Given the description of an element on the screen output the (x, y) to click on. 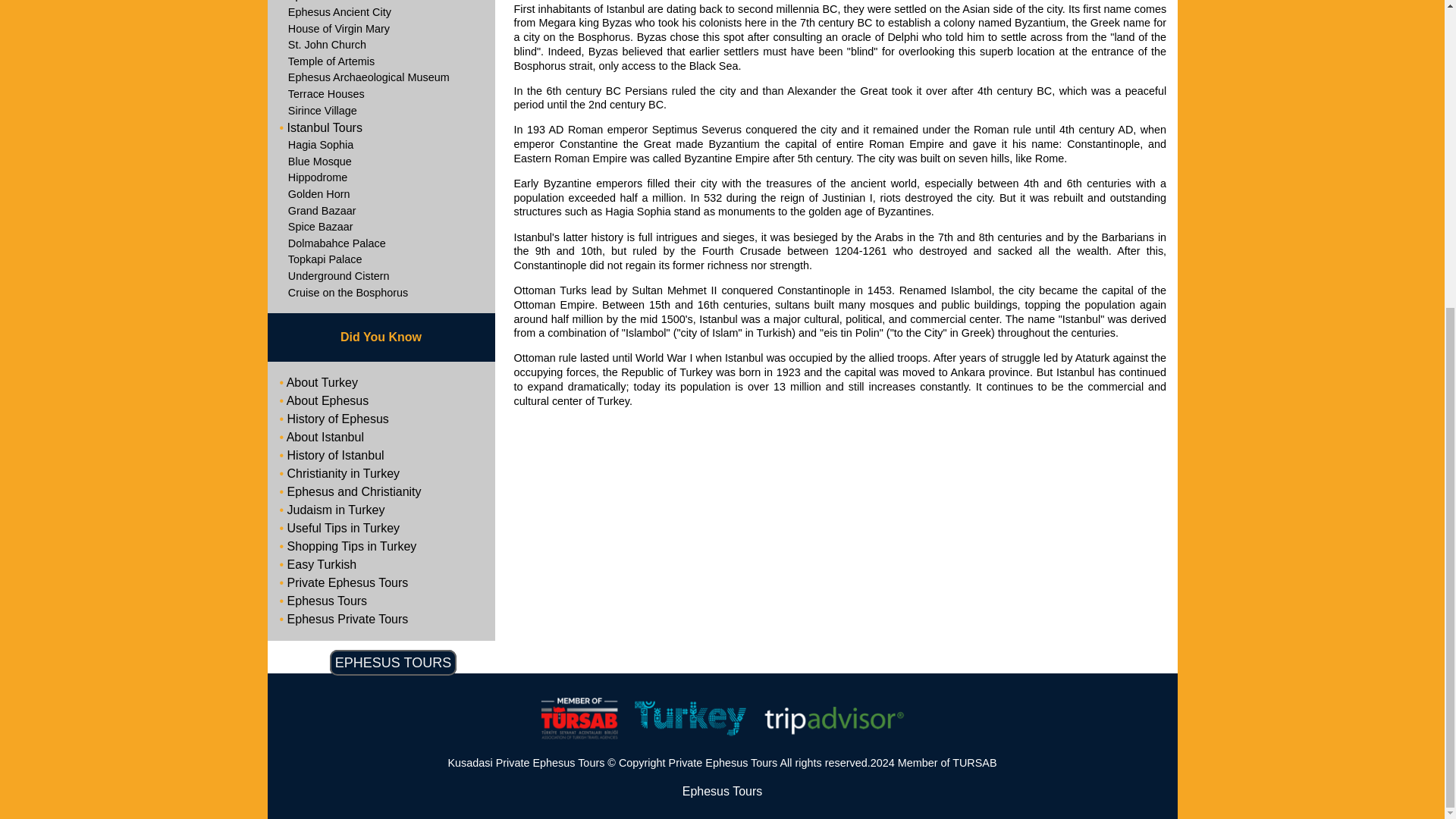
Grand Bazaar (380, 211)
St. John Church (380, 45)
Underground Cistern (380, 276)
House of Virgin Mary (380, 29)
Blue Mosque (380, 161)
Hippodrome (380, 177)
Terrace Houses (380, 94)
Spice Bazaar (380, 227)
Ephesus Archaeological Museum (380, 77)
Dolmabahce Palace (380, 243)
Sirince Village (380, 111)
Cruise on the Bosphorus (380, 292)
Topkapi Palace (380, 259)
Hagia Sophia (380, 145)
Golden Horn (380, 194)
